Given the description of an element on the screen output the (x, y) to click on. 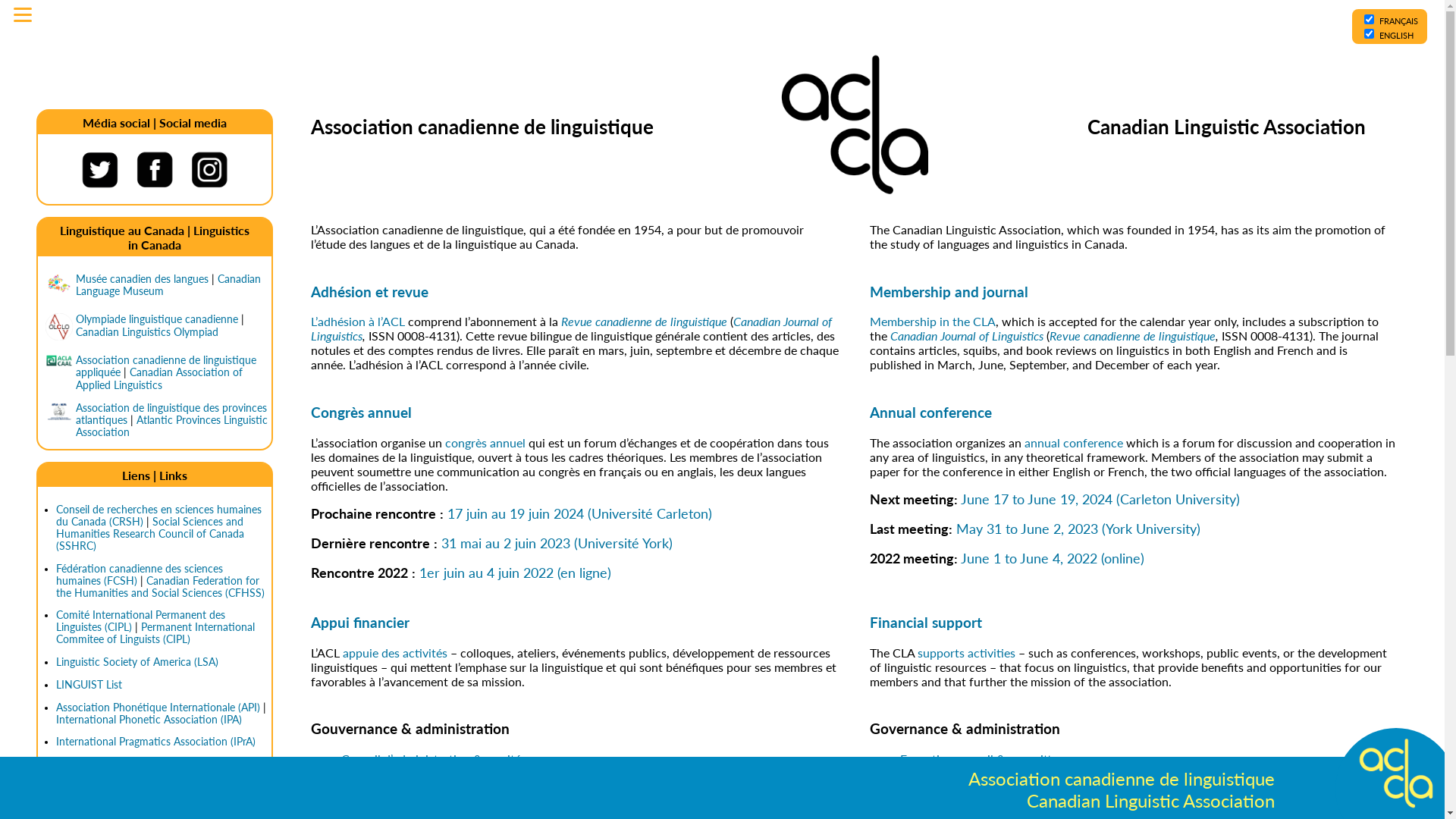
Constitution Element type: text (933, 772)
on Element type: text (1369, 33)
Appui financier Element type: text (359, 622)
Membership in the CLA Element type: text (932, 320)
Financial support Element type: text (925, 622)
1er juin au 4 juin 2022 (en ligne) Element type: text (515, 572)
Canadian Journal of Linguistics Element type: text (966, 335)
June 17 to June 19, 2024 (Carleton University) Element type: text (1099, 499)
MENU Element type: hover (23, 23)
Linguistic Society of America (LSA) Element type: text (137, 661)
LINGUIST List Element type: text (89, 684)
Membership and journal Element type: text (948, 291)
International Phonetic Association (IPA) Element type: text (148, 719)
Facebook Element type: hover (154, 169)
Canadian Association of Applied Linguistics Element type: text (158, 378)
supports activities Element type: text (966, 652)
Canadian Linguistics Olympiad Element type: text (146, 332)
Twitter Element type: hover (99, 169)
Atlantic Provinces Linguistic Association Element type: text (171, 426)
Statuts Element type: text (360, 772)
ACL | CLA Element type: hover (854, 124)
Revue canadienne de linguistique Element type: text (1132, 335)
on Element type: text (1369, 19)
Canadian Linguistic Association Element type: text (1150, 800)
Bylaws Element type: text (919, 787)
Canadian Journal of Linguistics Element type: text (570, 327)
Instagram Element type: hover (209, 169)
May 31 to June 2, 2023 (York University) Element type: text (1078, 528)
Executive council & committees Element type: text (984, 758)
Minutes of the annual general meeting Element type: text (1002, 801)
Olympiade linguistique canadienne Element type: text (156, 319)
annual conference Element type: text (1073, 442)
Canadian Language Museum Element type: text (167, 285)
American Pragmatics Association (AMPRA) Element type: text (156, 764)
Annual conference Element type: text (930, 412)
International Pragmatics Association (IPrA) Element type: text (155, 741)
Association de linguistique des provinces atlantiques Element type: text (170, 413)
Conseil de recherches en sciences humaines du Canada (CRSH) Element type: text (158, 515)
June 1 to June 4, 2022 (online) Element type: text (1052, 558)
Association canadienne de linguistique Element type: text (1121, 778)
Permanent International Commitee of Linguists (CIPL) Element type: text (155, 633)
Revue canadienne de linguistique Element type: text (644, 320)
